Given the description of an element on the screen output the (x, y) to click on. 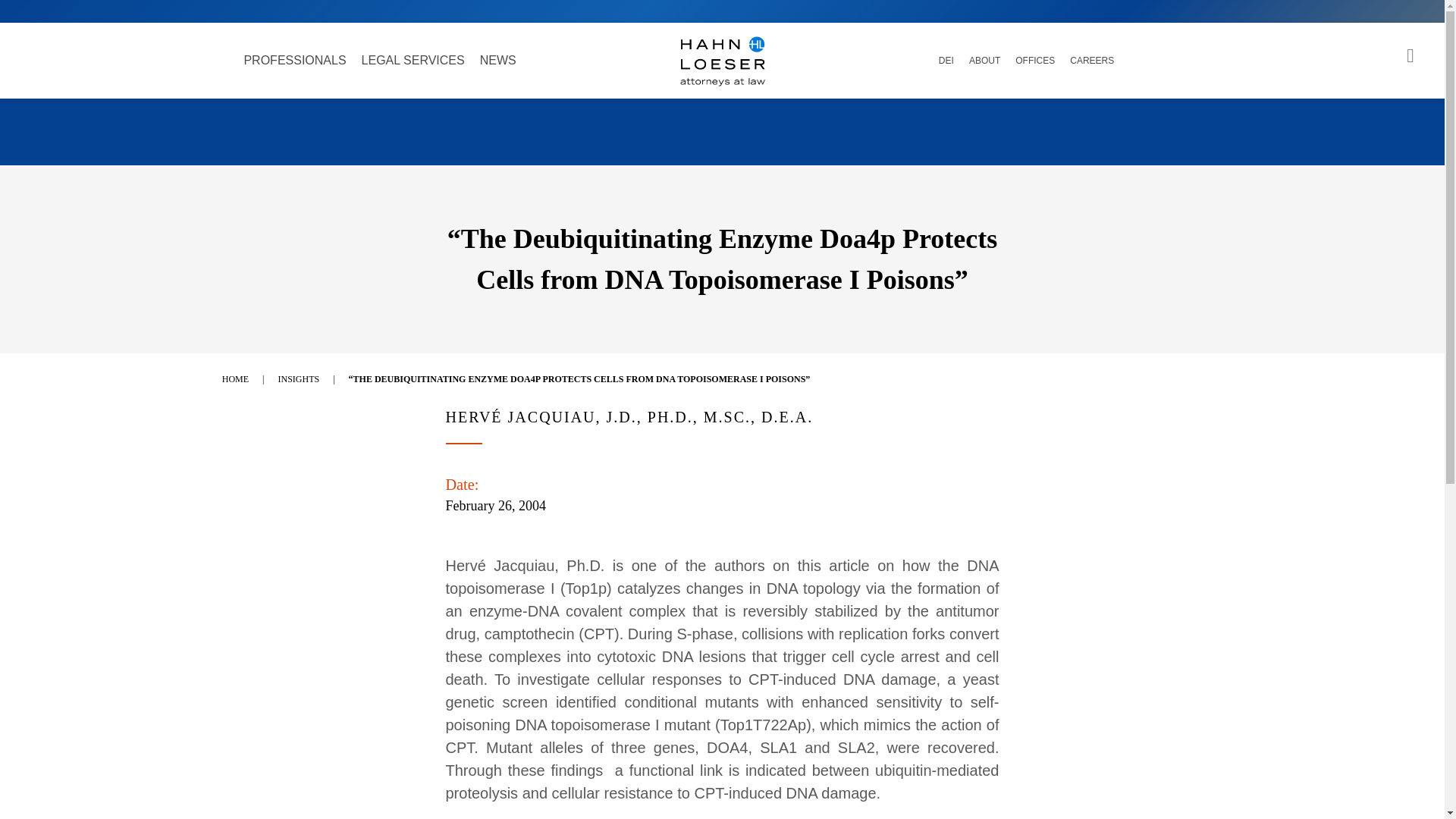
CAREERS (1091, 60)
INSIGHTS (304, 378)
HOME (241, 378)
OFFICES (1034, 60)
PROFESSIONALS (294, 60)
LEGAL SERVICES (412, 60)
NEWS (497, 60)
ABOUT (983, 60)
